Given the description of an element on the screen output the (x, y) to click on. 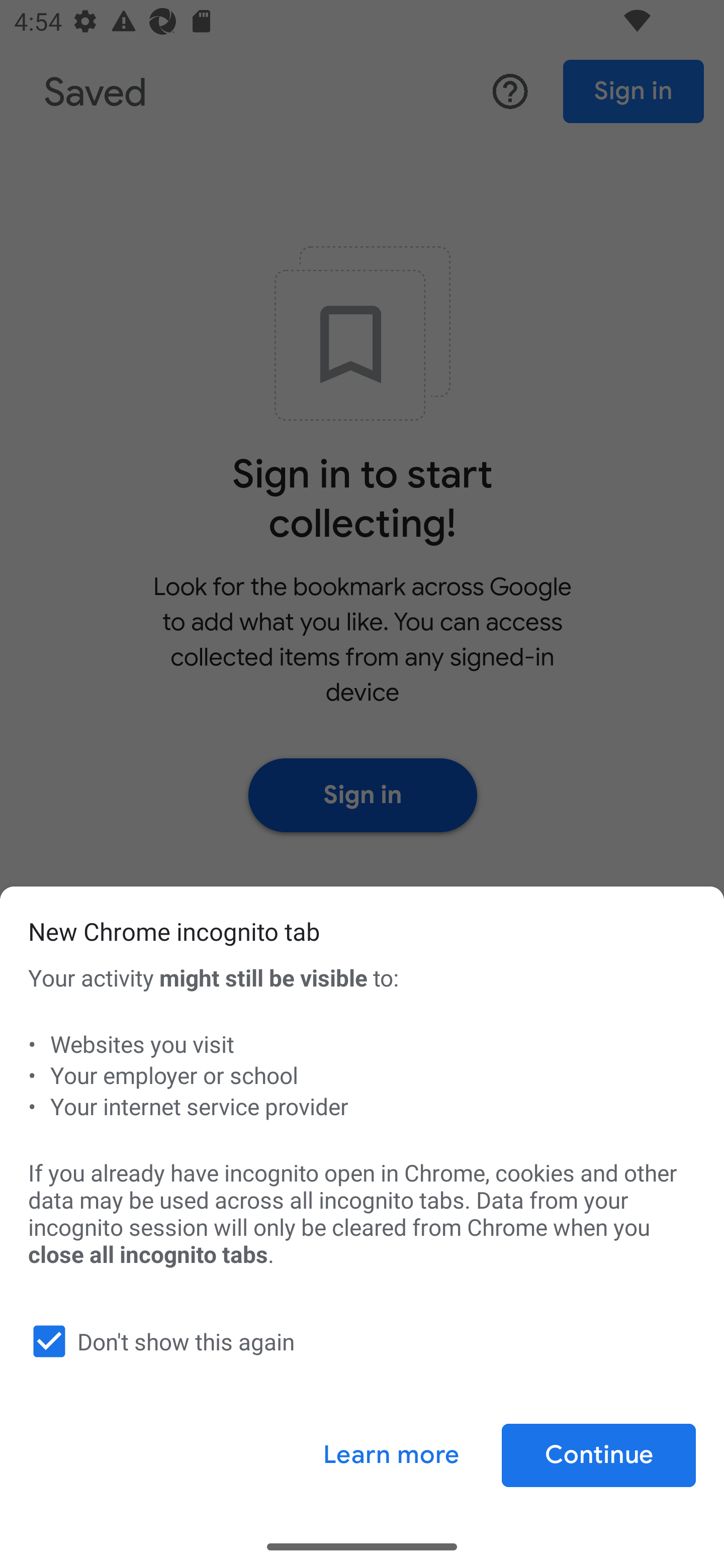
Don't show this again (357, 1341)
Learn more (390, 1454)
Continue (598, 1454)
